Given the description of an element on the screen output the (x, y) to click on. 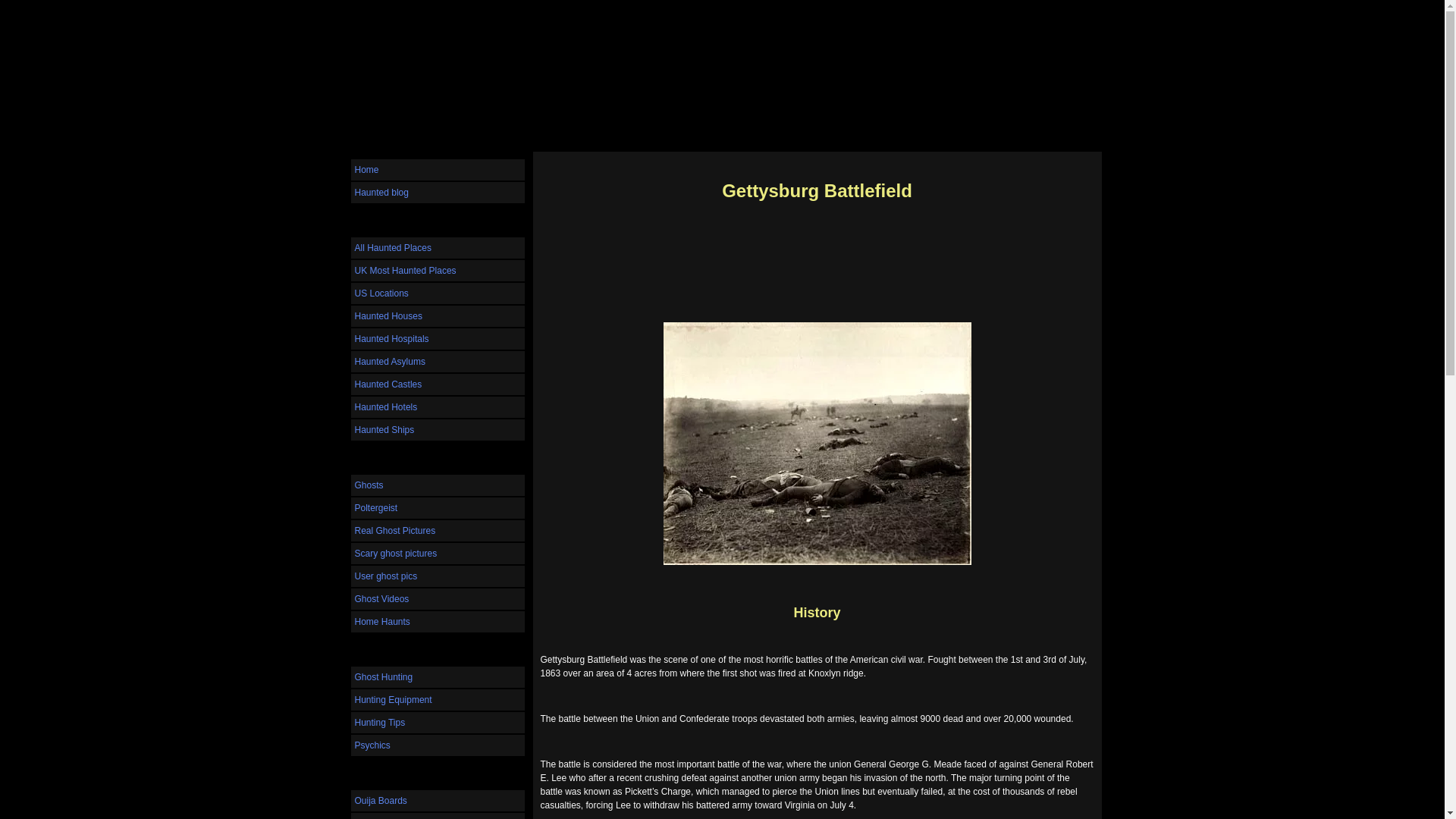
Haunted Houses (437, 315)
Haunted Hotels (437, 406)
Psychics (437, 744)
Scary ghost pictures (437, 553)
UK Most Haunted Places (437, 270)
User ghost pics (437, 576)
Home Haunts (437, 621)
US Locations (437, 292)
Haunted Asylums (437, 361)
Poltergeist (437, 507)
Hunting Equipment (437, 699)
Haunted Castles (437, 383)
Ghosts (437, 485)
Ouija Stories (437, 816)
Ghost Videos (437, 598)
